Given the description of an element on the screen output the (x, y) to click on. 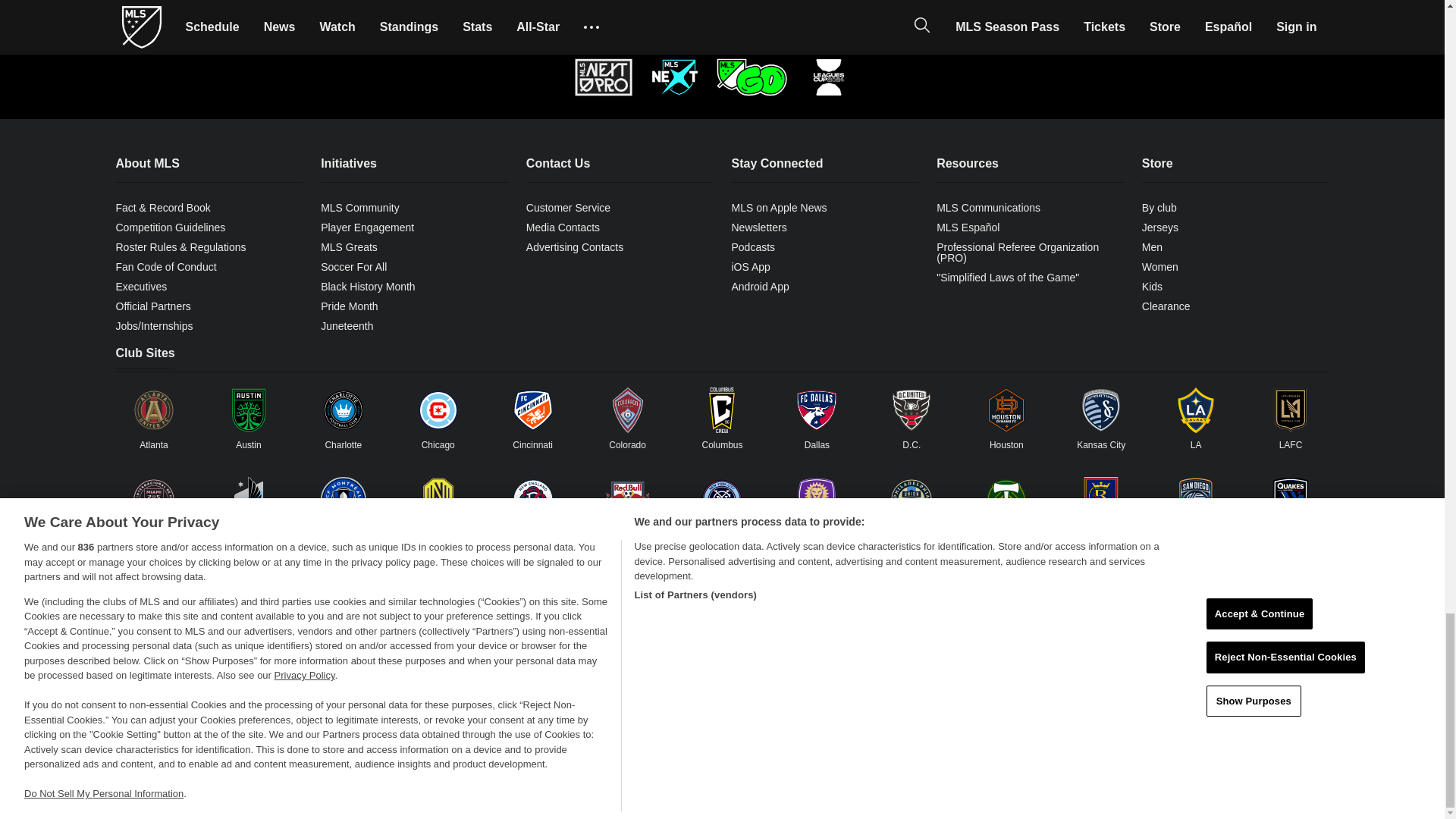
Link to Austin (247, 410)
Link to Atlanta (153, 410)
Link to Cincinnati (533, 410)
Link to Chicago (437, 410)
Link to Colorado (627, 410)
Link to Charlotte (343, 410)
